Given the description of an element on the screen output the (x, y) to click on. 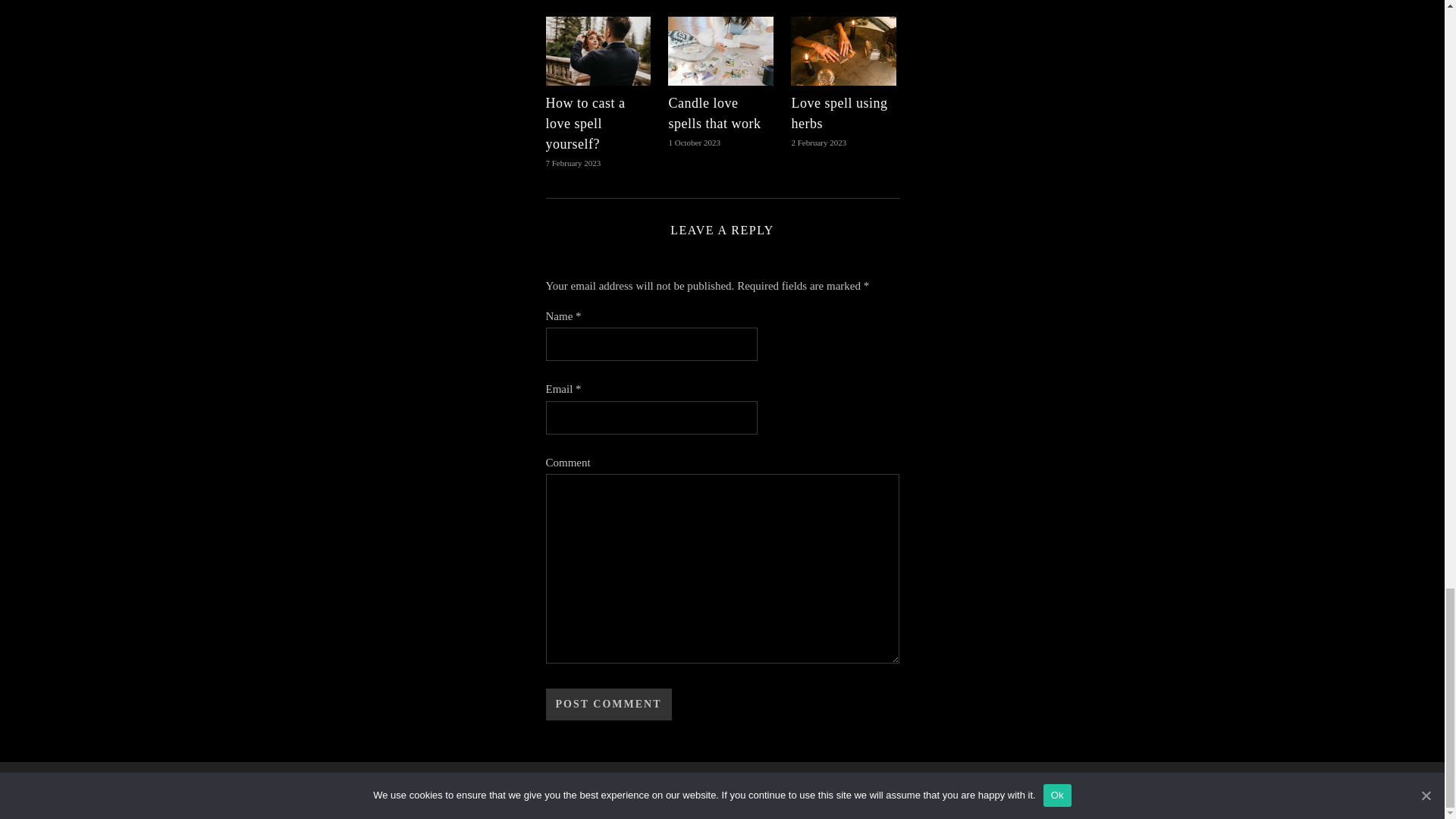
Candle love spells that work (714, 113)
Post Comment (608, 704)
Post Comment (608, 704)
Love spell using herbs (838, 113)
How to cast a love spell yourself? (586, 123)
